Given the description of an element on the screen output the (x, y) to click on. 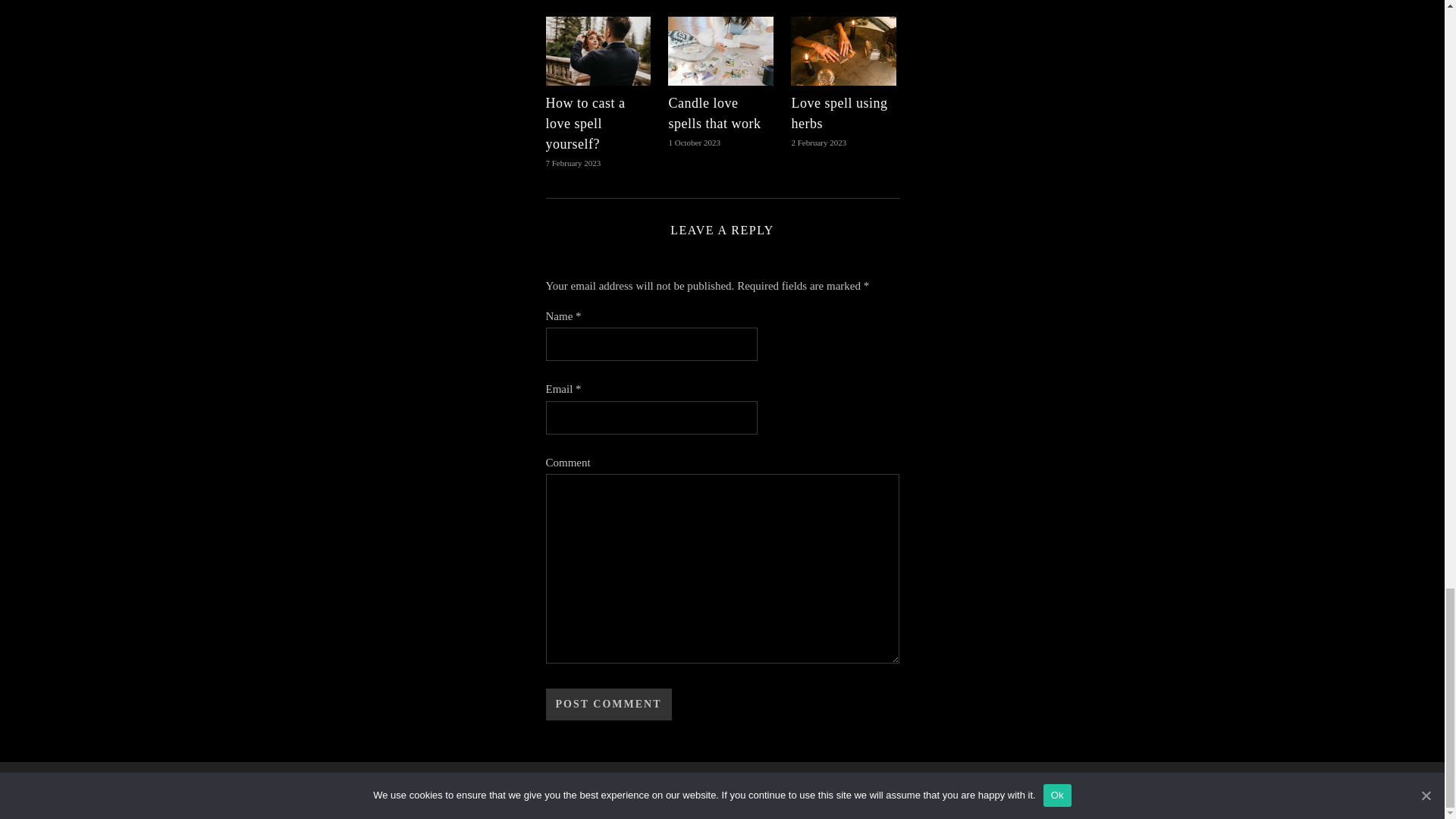
Candle love spells that work (714, 113)
Post Comment (608, 704)
Post Comment (608, 704)
Love spell using herbs (838, 113)
How to cast a love spell yourself? (586, 123)
